Given the description of an element on the screen output the (x, y) to click on. 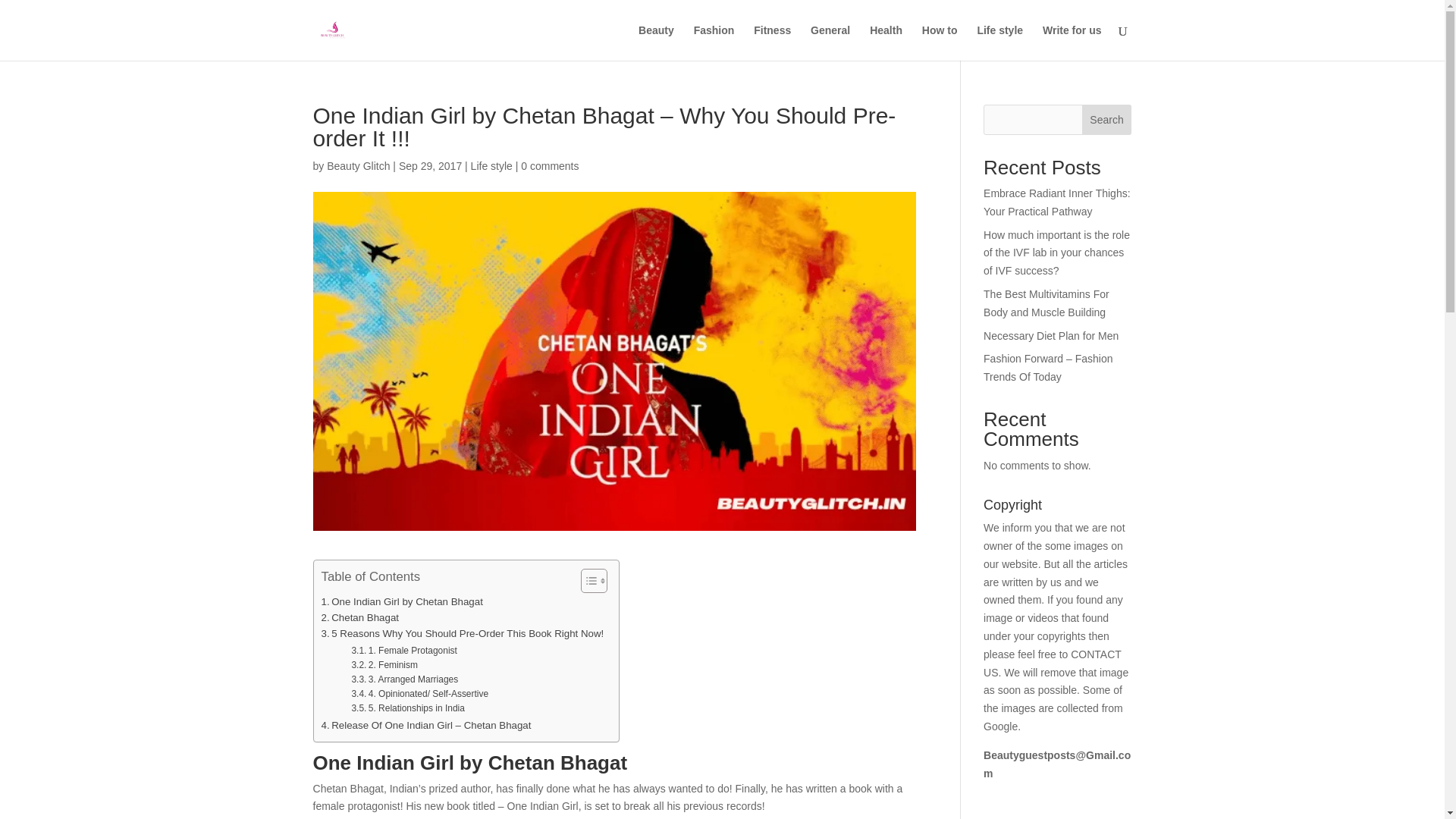
Beauty Glitch (358, 165)
5. Relationships in India (407, 708)
Chetan Bhagat (359, 617)
How to (939, 42)
Fashion (714, 42)
5. Relationships in India (407, 708)
Embrace Radiant Inner Thighs: Your Practical Pathway (1057, 202)
3. Arranged Marriages (404, 679)
2. Feminism (383, 665)
Posts by Beauty Glitch (358, 165)
Fitness (772, 42)
5 Reasons Why You Should Pre-Order This Book Right Now! (462, 633)
Necessary Diet Plan for Men (1051, 336)
Health (885, 42)
